Given the description of an element on the screen output the (x, y) to click on. 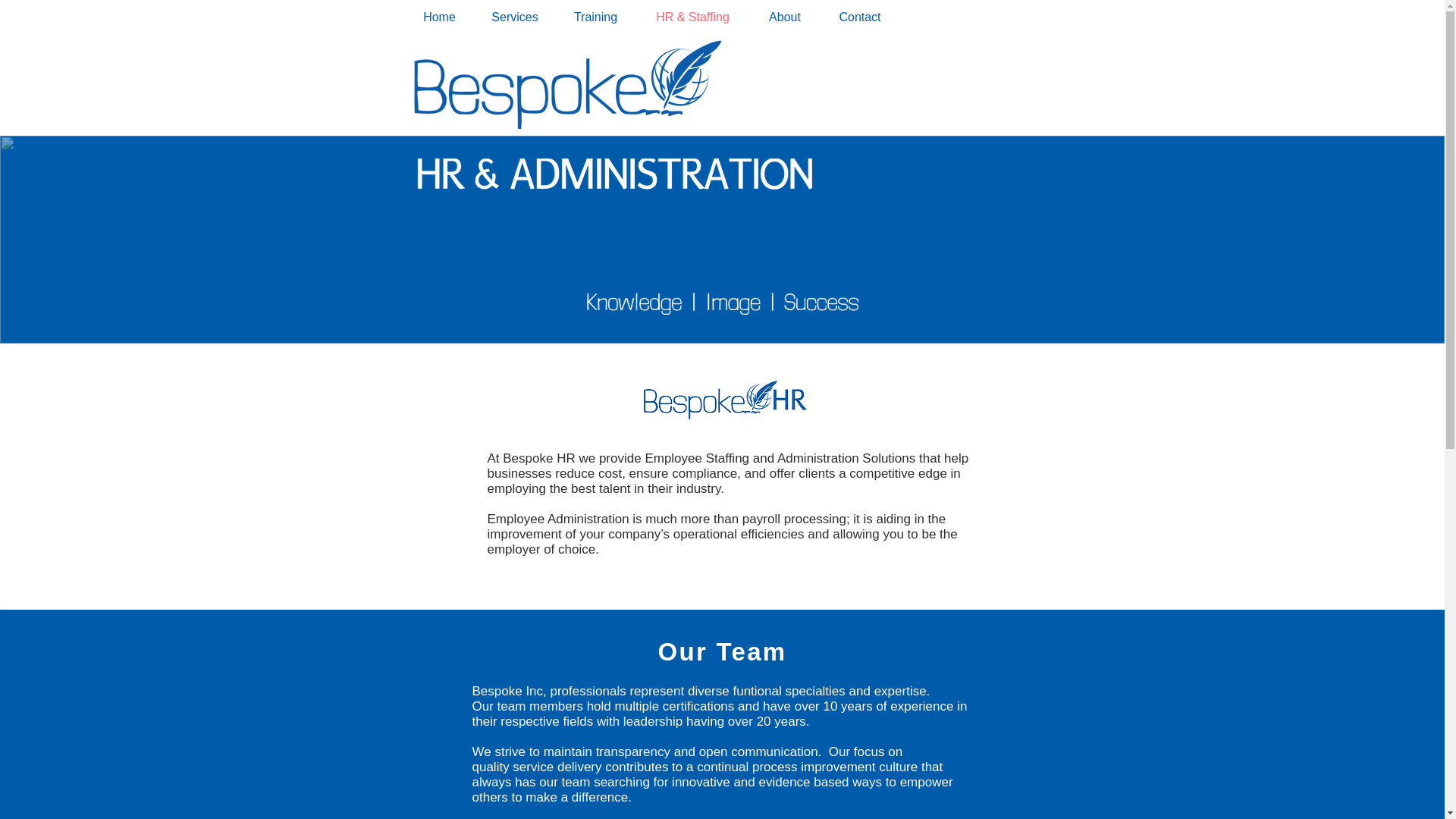
Services (515, 17)
Bespoke-logo-notag-02.png (569, 77)
About (784, 17)
Contact (860, 17)
Training (594, 17)
Home (439, 17)
